Given the description of an element on the screen output the (x, y) to click on. 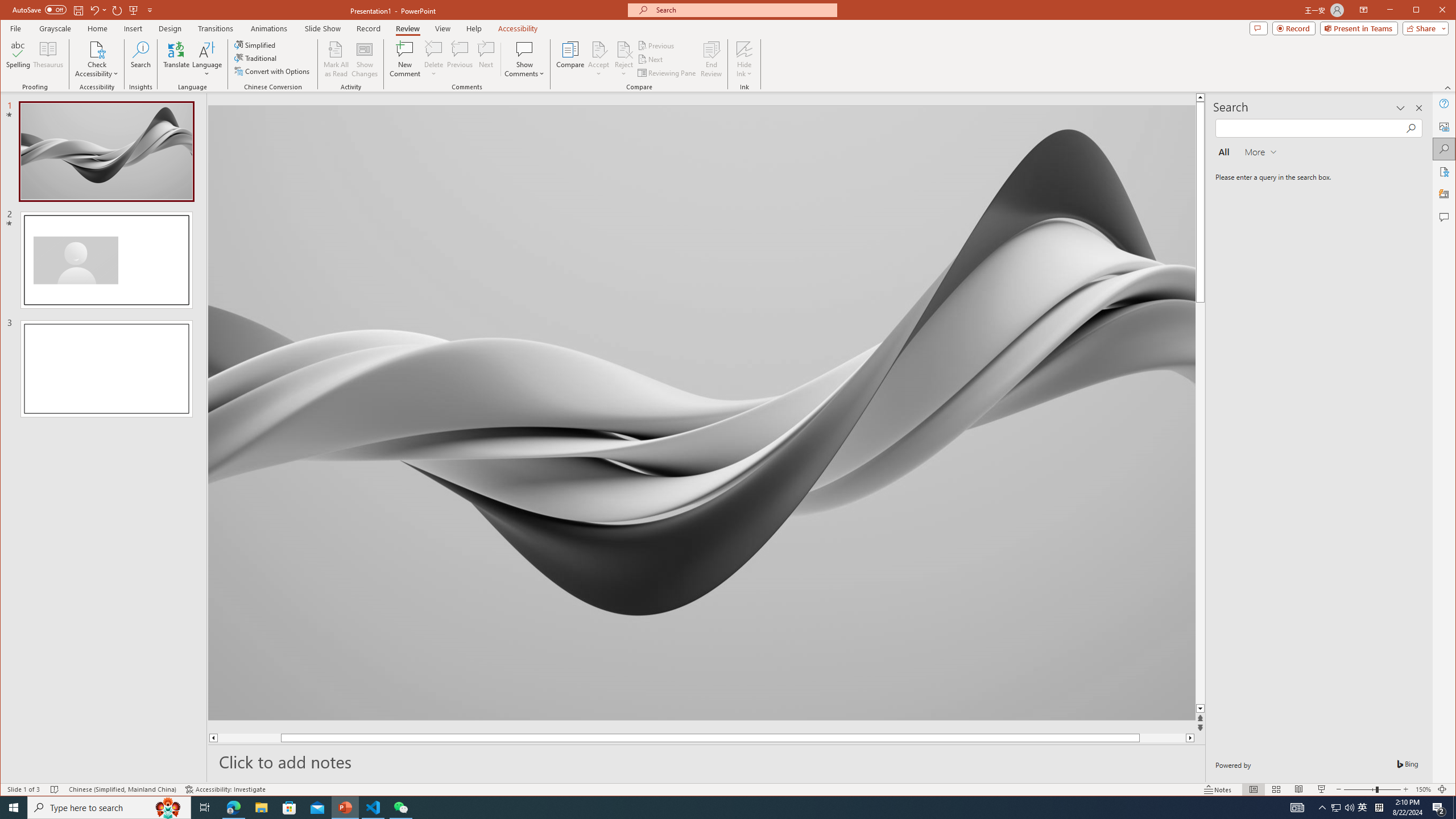
Convert with Options... (272, 70)
Reviewing Pane (667, 72)
Thesaurus... (48, 59)
